Given the description of an element on the screen output the (x, y) to click on. 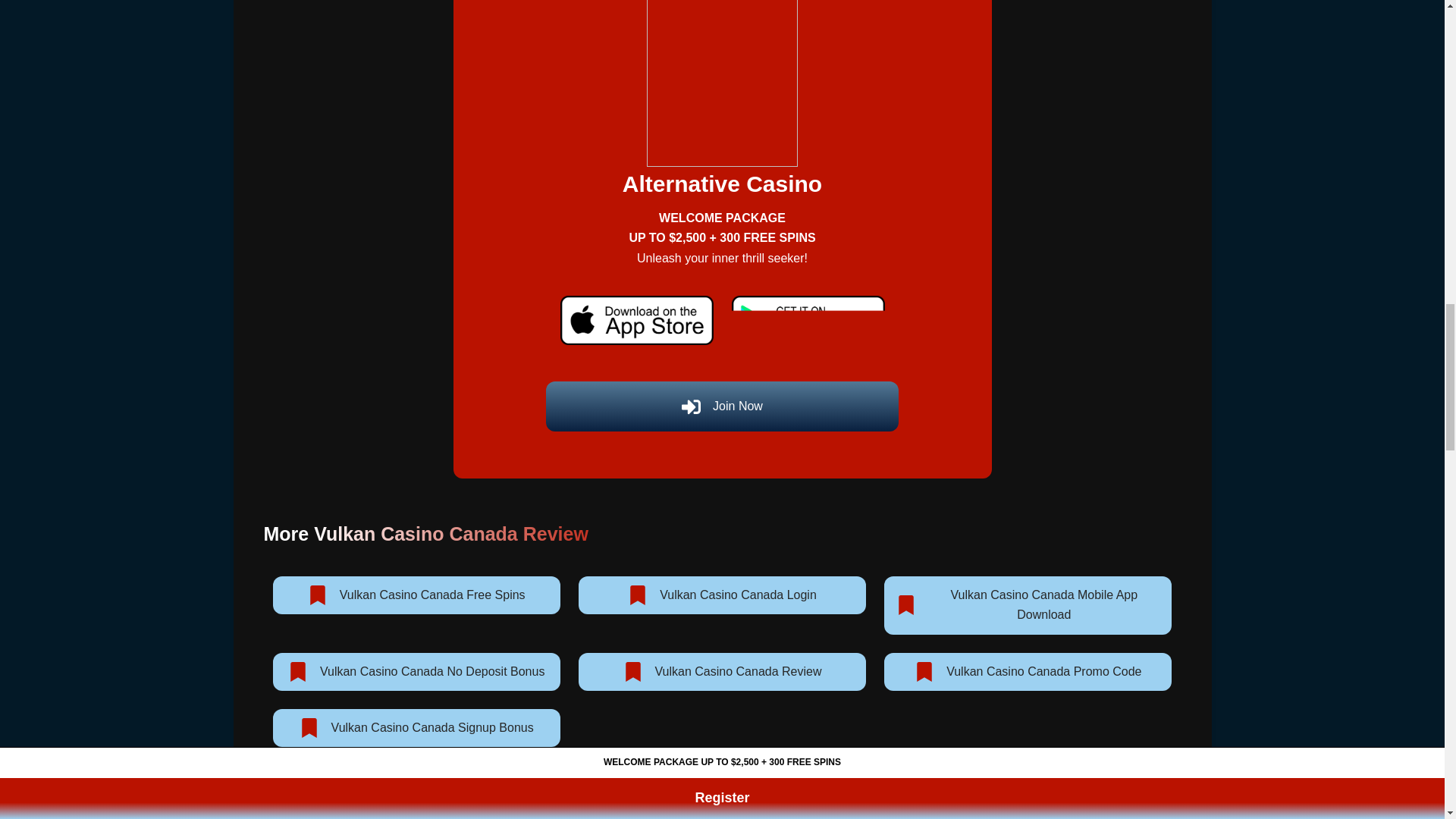
Vulkan Casino Canada Promo Code (1027, 671)
Vulkan Casino Canada Review (722, 671)
Vulkan Casino Canada Free Spins (416, 595)
Vulkan Casino Canada Mobile App Download (1027, 605)
Vulkan Casino Canada No Deposit Bonus (416, 671)
Join Now (722, 406)
Vulkan Casino Canada Signup Bonus (416, 727)
Vulkan Casino Canada Login (722, 595)
